Given the description of an element on the screen output the (x, y) to click on. 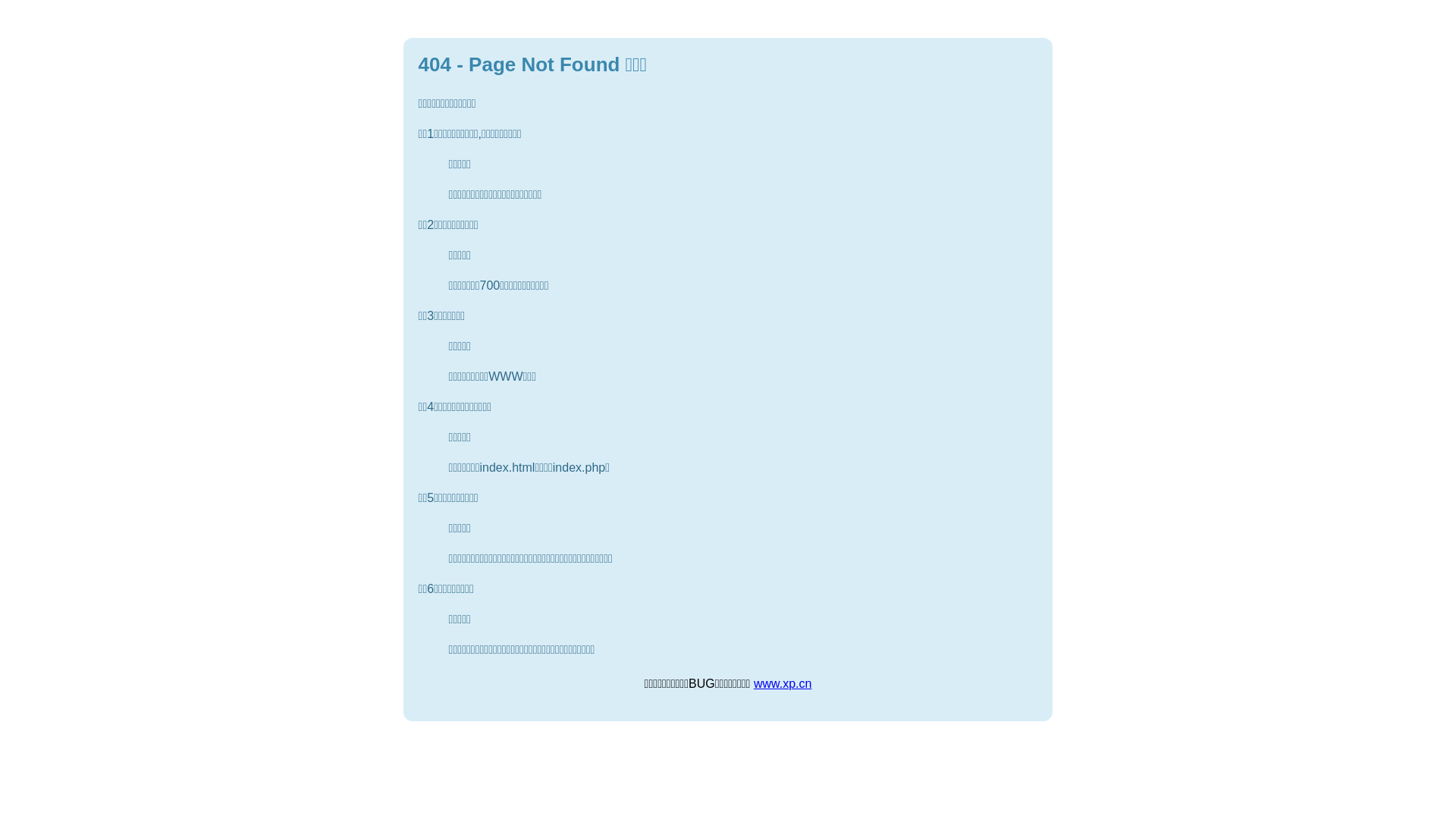
www.xp.cn Element type: text (782, 683)
